Given the description of an element on the screen output the (x, y) to click on. 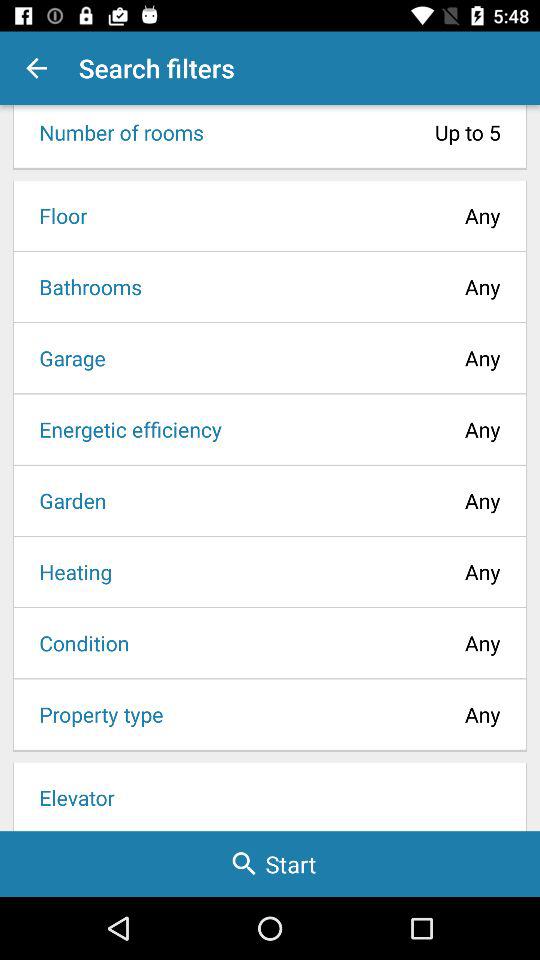
open item below energetic efficiency icon (66, 500)
